Given the description of an element on the screen output the (x, y) to click on. 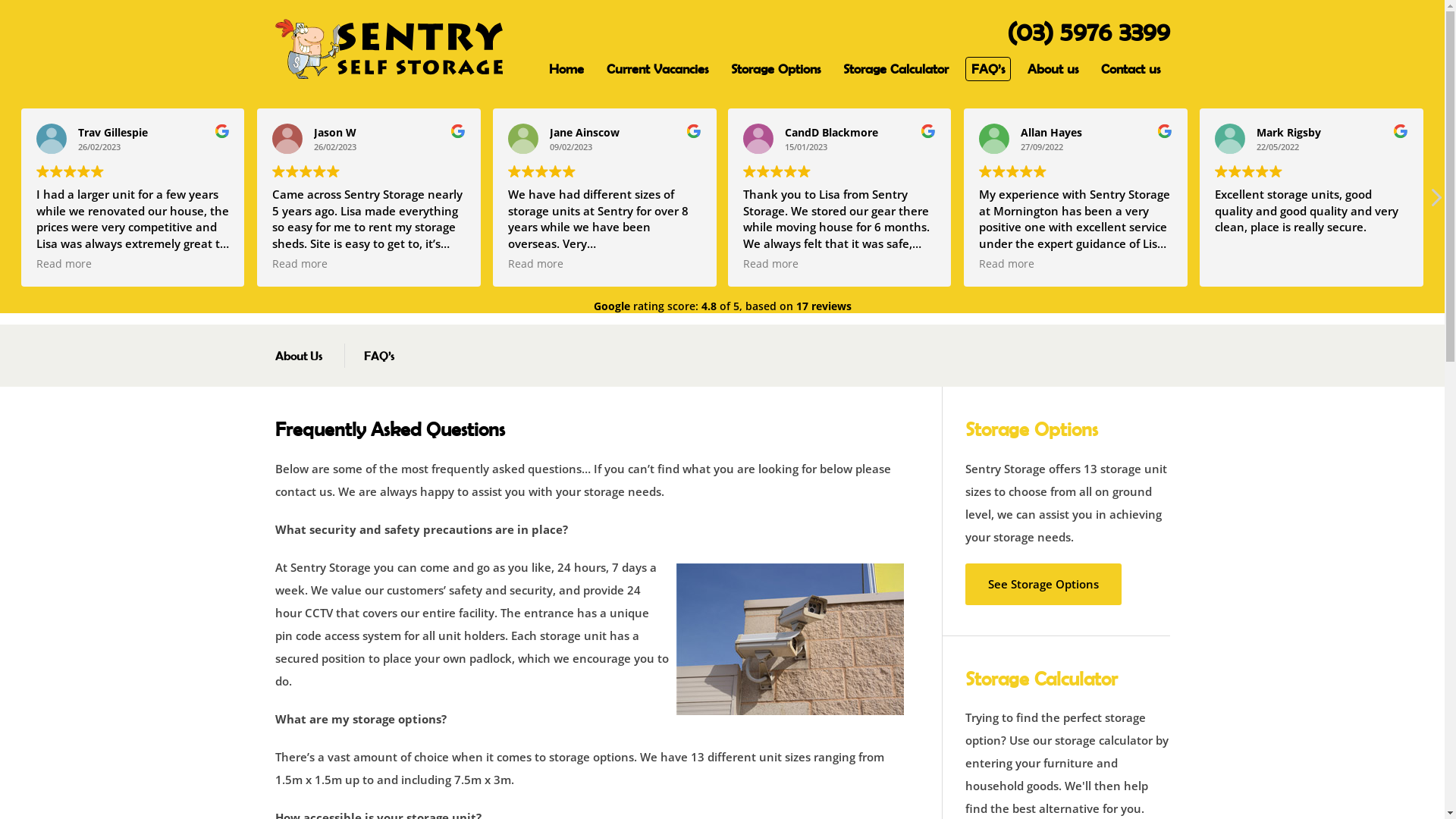
About us Element type: text (1051, 68)
Storage Calculator Element type: text (895, 68)
Home Element type: text (565, 68)
See Storage Options Element type: text (1042, 584)
Storage Options Element type: text (775, 68)
Current Vacancies Element type: text (657, 68)
Contact us Element type: text (1130, 68)
About Us Element type: text (297, 355)
(03) 5976 3399 Element type: text (1088, 31)
